Given the description of an element on the screen output the (x, y) to click on. 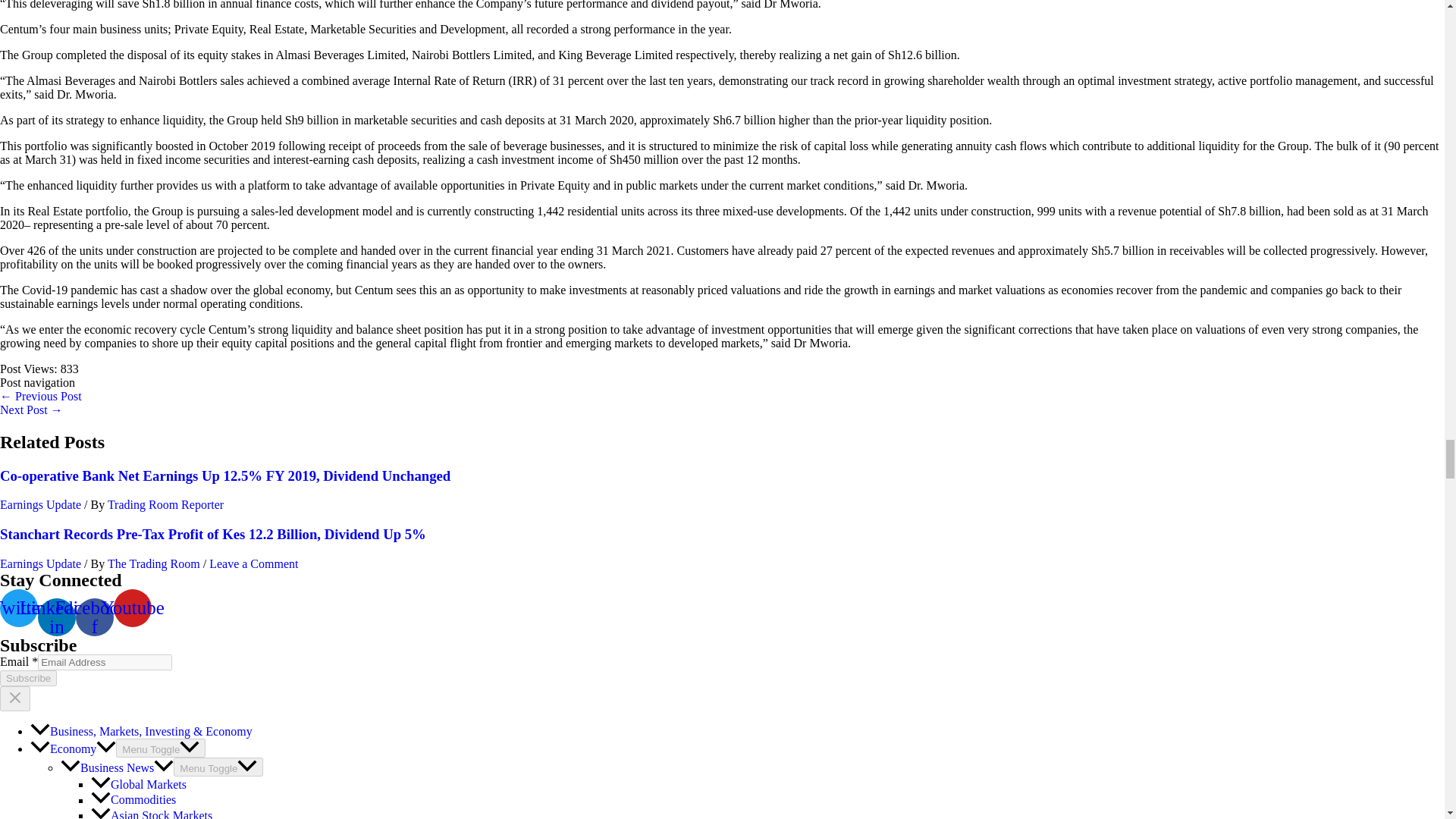
View all posts by The Trading Room (155, 563)
Earnings Update (40, 563)
Linkedin-in (56, 617)
Trading Room Reporter (165, 504)
Earnings Update (40, 504)
Facebook-f (94, 617)
Leave a Comment (253, 563)
Twitter (18, 607)
View all posts by Trading Room Reporter (165, 504)
The Trading Room (155, 563)
